Given the description of an element on the screen output the (x, y) to click on. 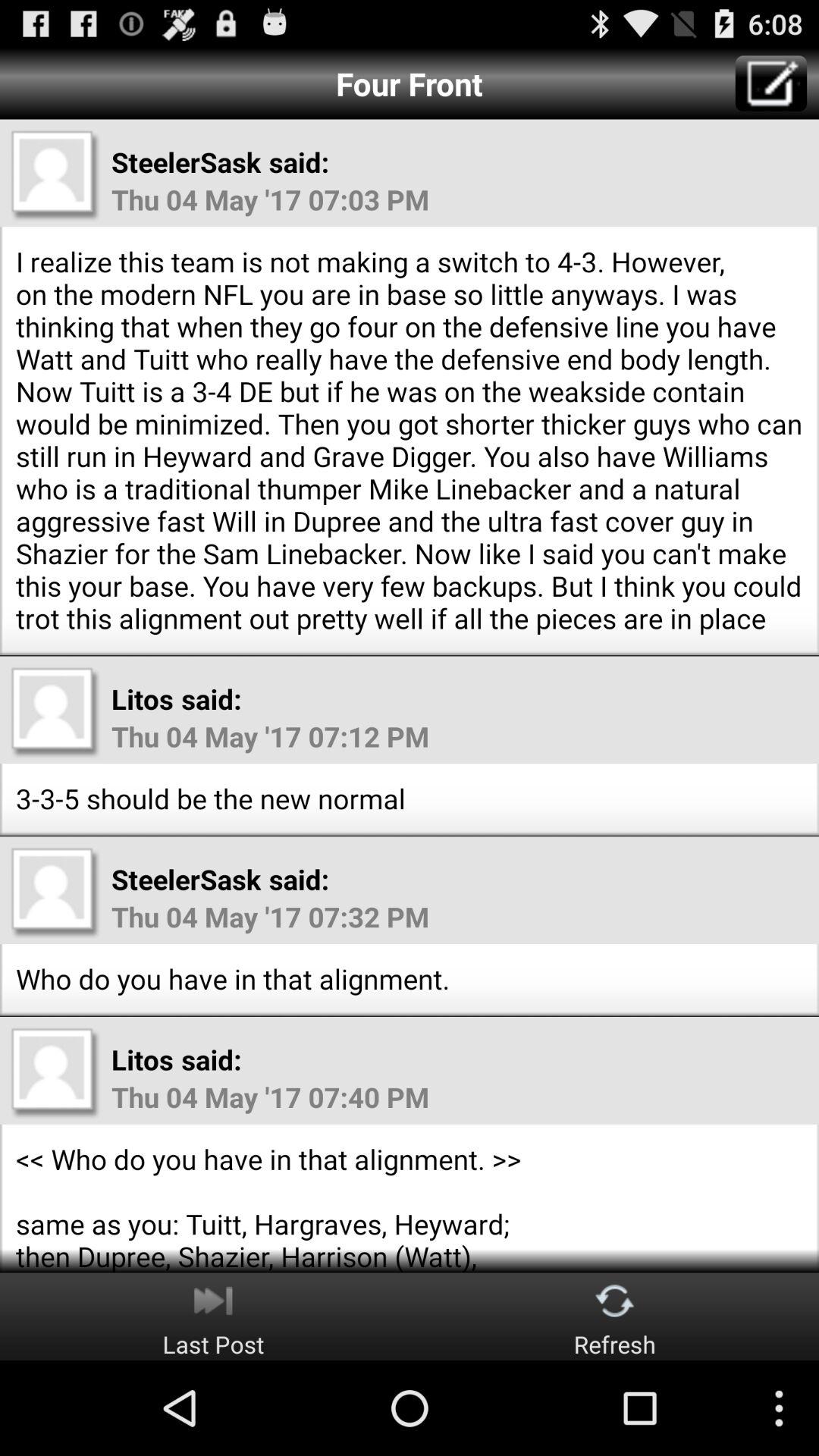
click the item at the top right corner (771, 83)
